Given the description of an element on the screen output the (x, y) to click on. 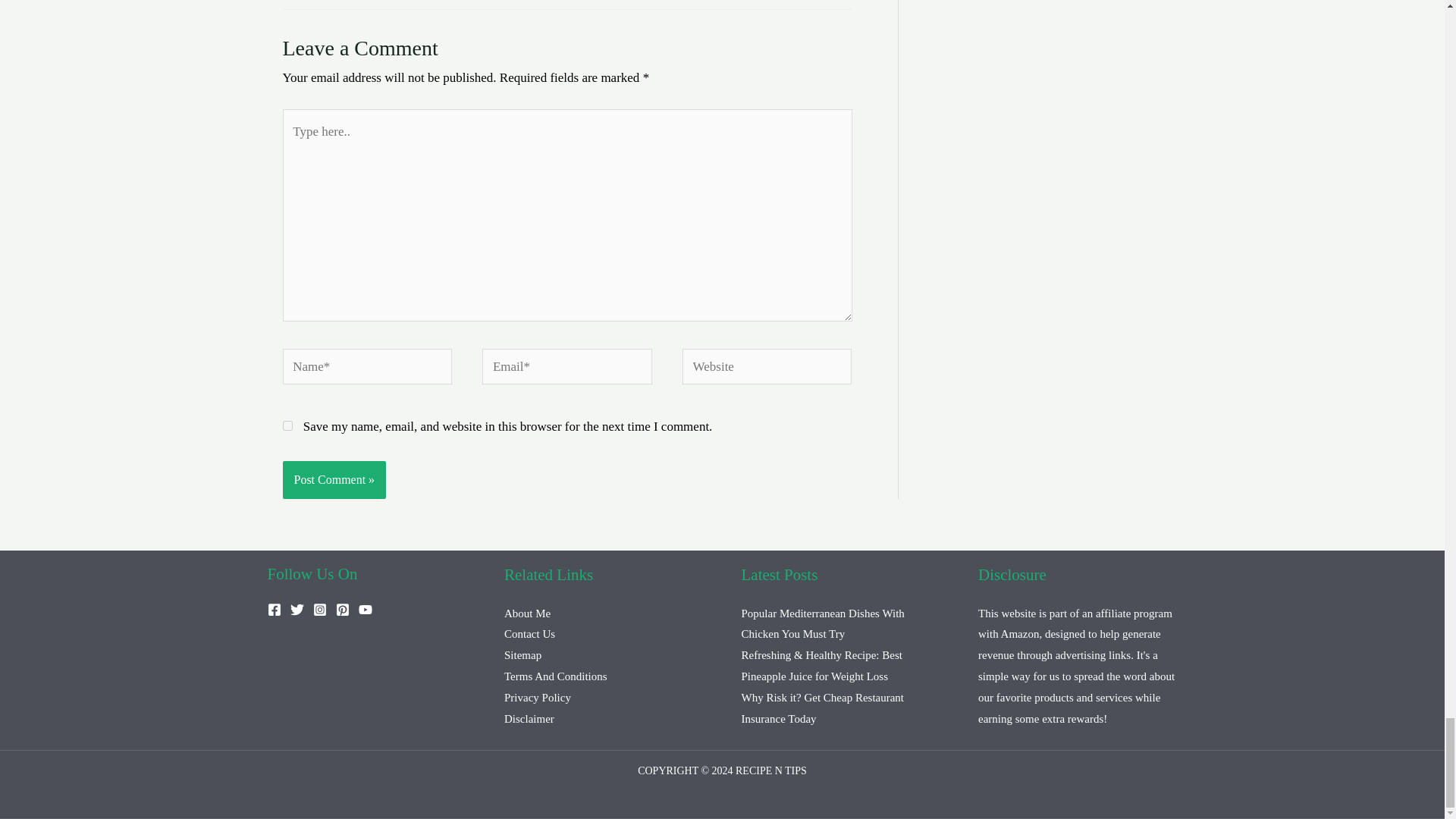
yes (287, 425)
